Given the description of an element on the screen output the (x, y) to click on. 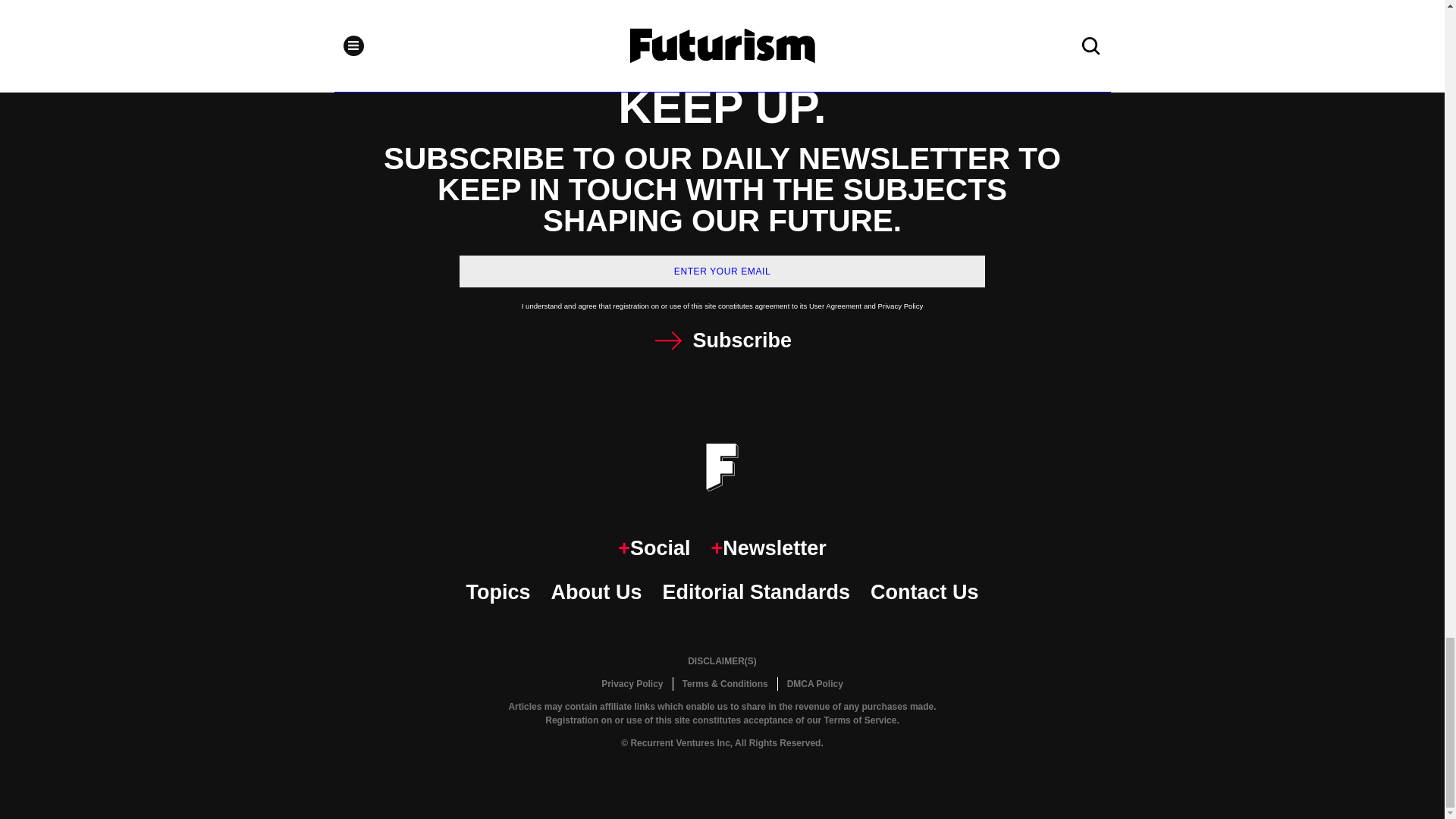
Contact Us (924, 592)
Topics (497, 592)
About Us (596, 592)
Privacy Policy (631, 684)
DMCA Policy (814, 684)
Subscribe (722, 340)
Editorial Standards (756, 592)
